Given the description of an element on the screen output the (x, y) to click on. 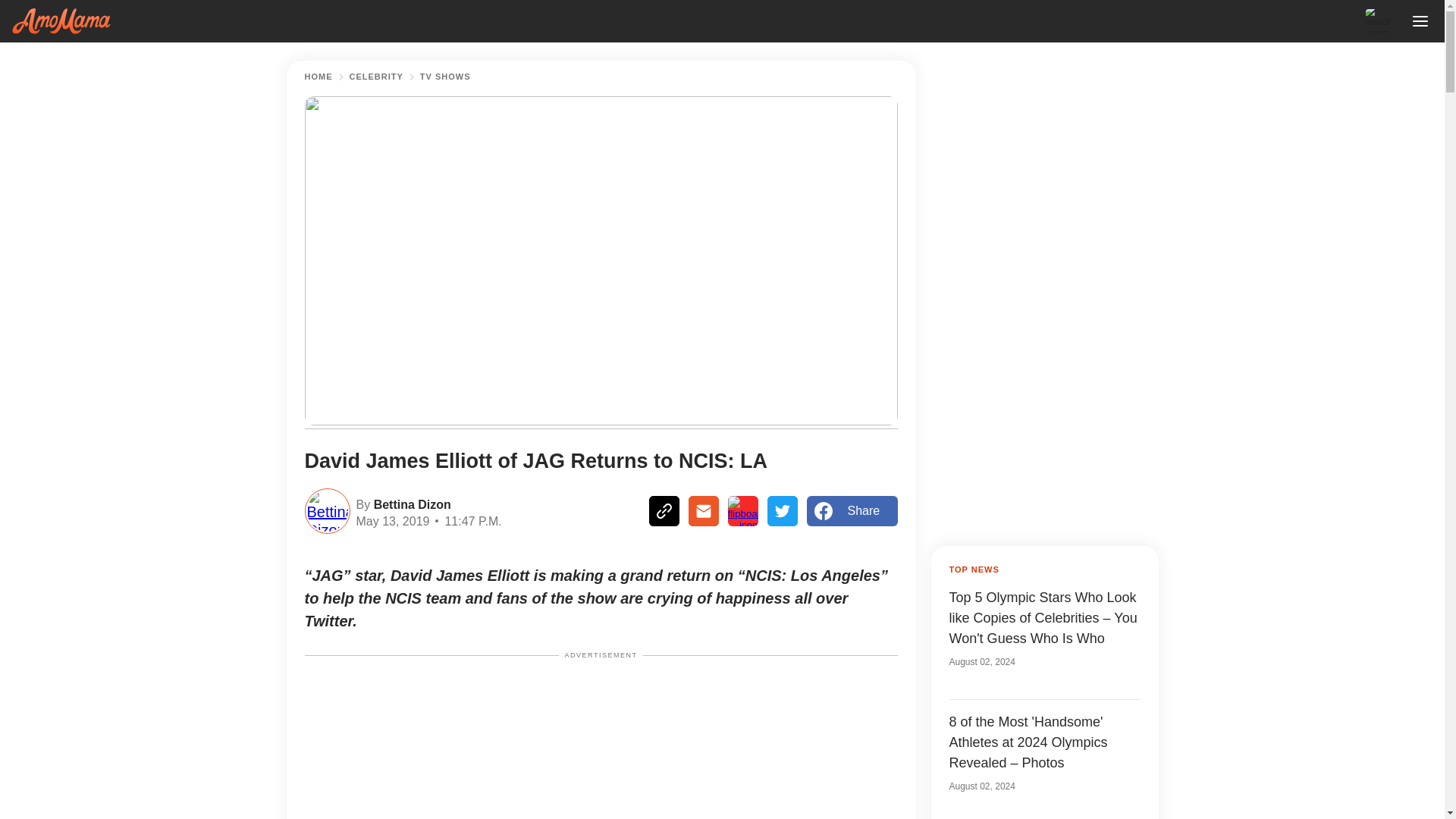
TV SHOWS (445, 76)
HOME (318, 76)
CELEBRITY (376, 76)
Bettina Dizon (410, 503)
